Given the description of an element on the screen output the (x, y) to click on. 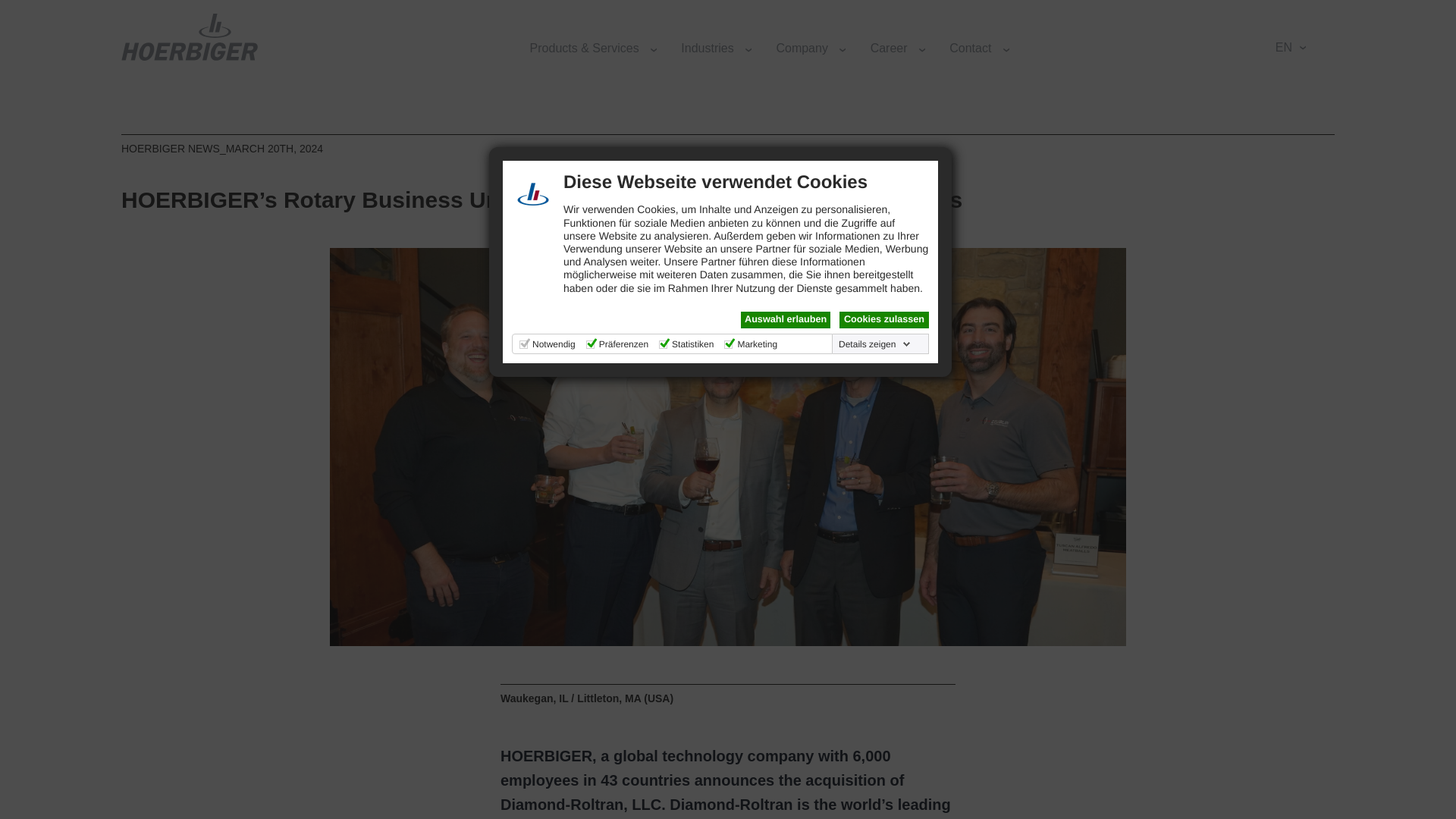
Cookies zulassen (884, 320)
Auswahl erlauben (785, 320)
Details zeigen (874, 344)
